Given the description of an element on the screen output the (x, y) to click on. 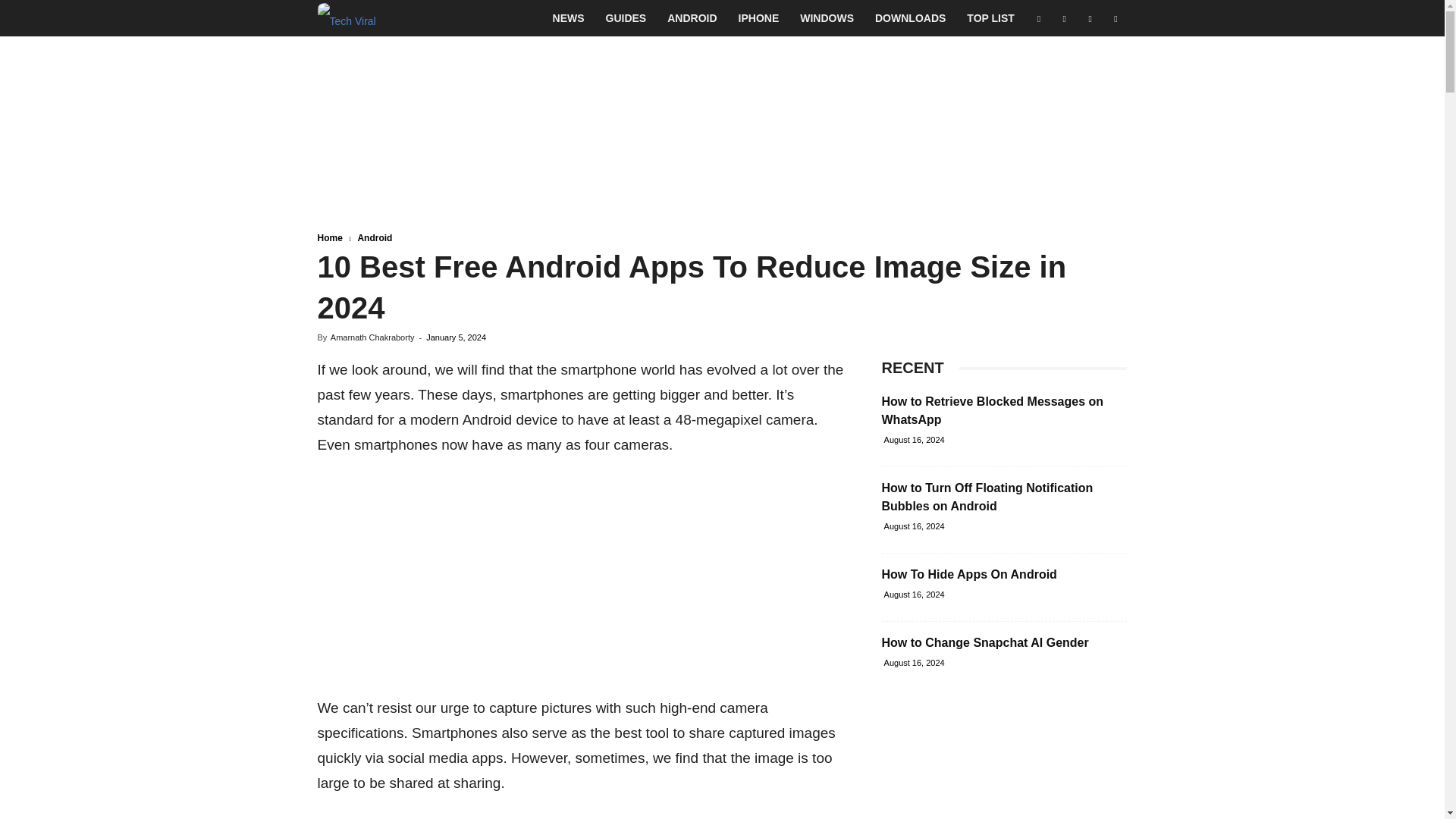
TOP LIST (990, 18)
Home (329, 237)
DOWNLOADS (910, 18)
ANDROID (691, 18)
IPHONE (759, 18)
Amarnath Chakraborty (372, 337)
NEWS (568, 18)
GUIDES (626, 18)
TechViral (346, 18)
Tech Viral (346, 18)
